Given the description of an element on the screen output the (x, y) to click on. 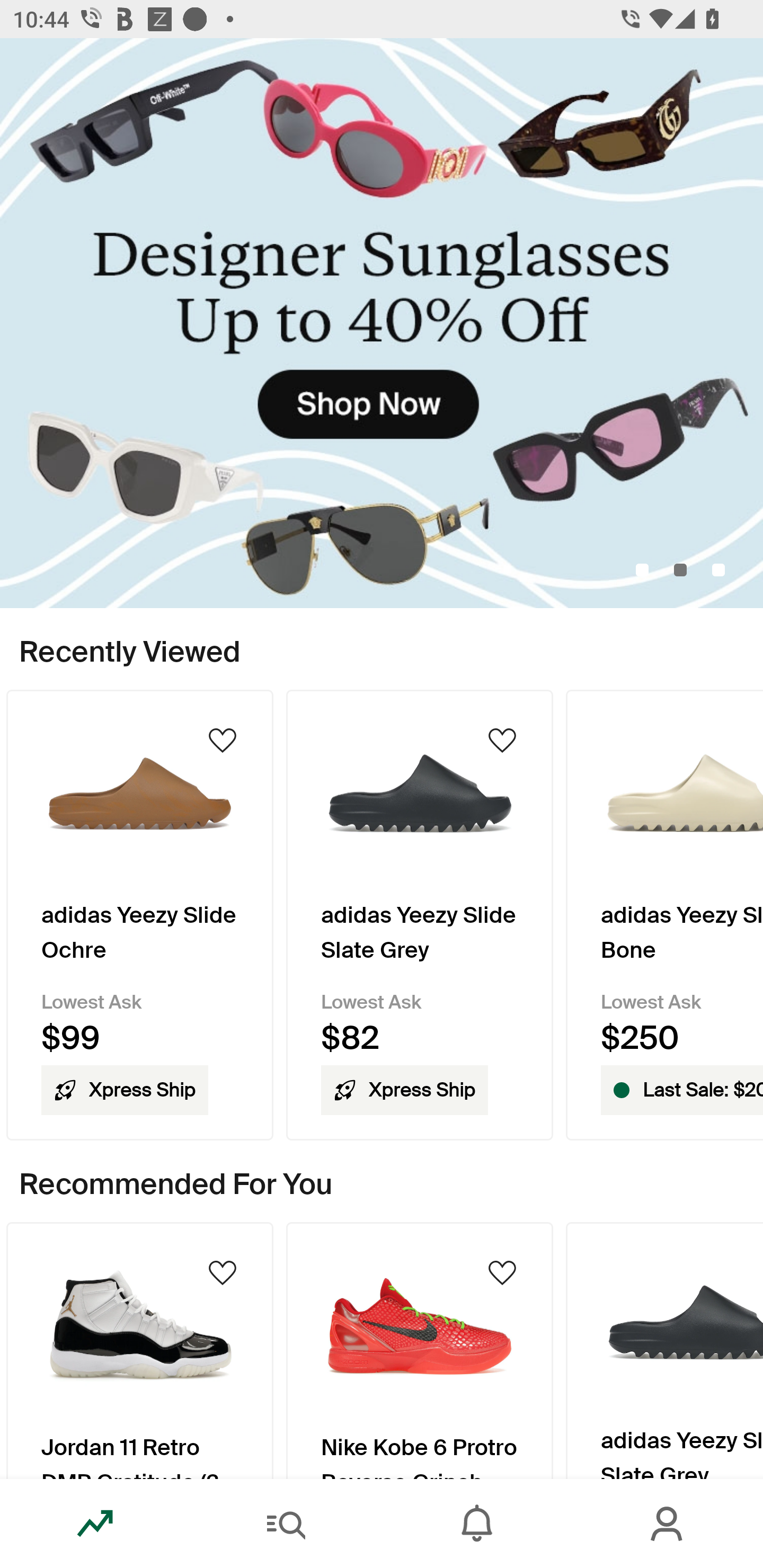
DesignerSunglassesUpto40_Off_Primary_Mobile.jpg (381, 322)
Product Image Jordan 11 Retro DMP Gratitude (2023) (139, 1349)
Product Image Nike Kobe 6 Protro Reverse Grinch (419, 1349)
Product Image adidas Yeezy Slide Slate Grey (664, 1349)
Search (285, 1523)
Inbox (476, 1523)
Account (667, 1523)
